Given the description of an element on the screen output the (x, y) to click on. 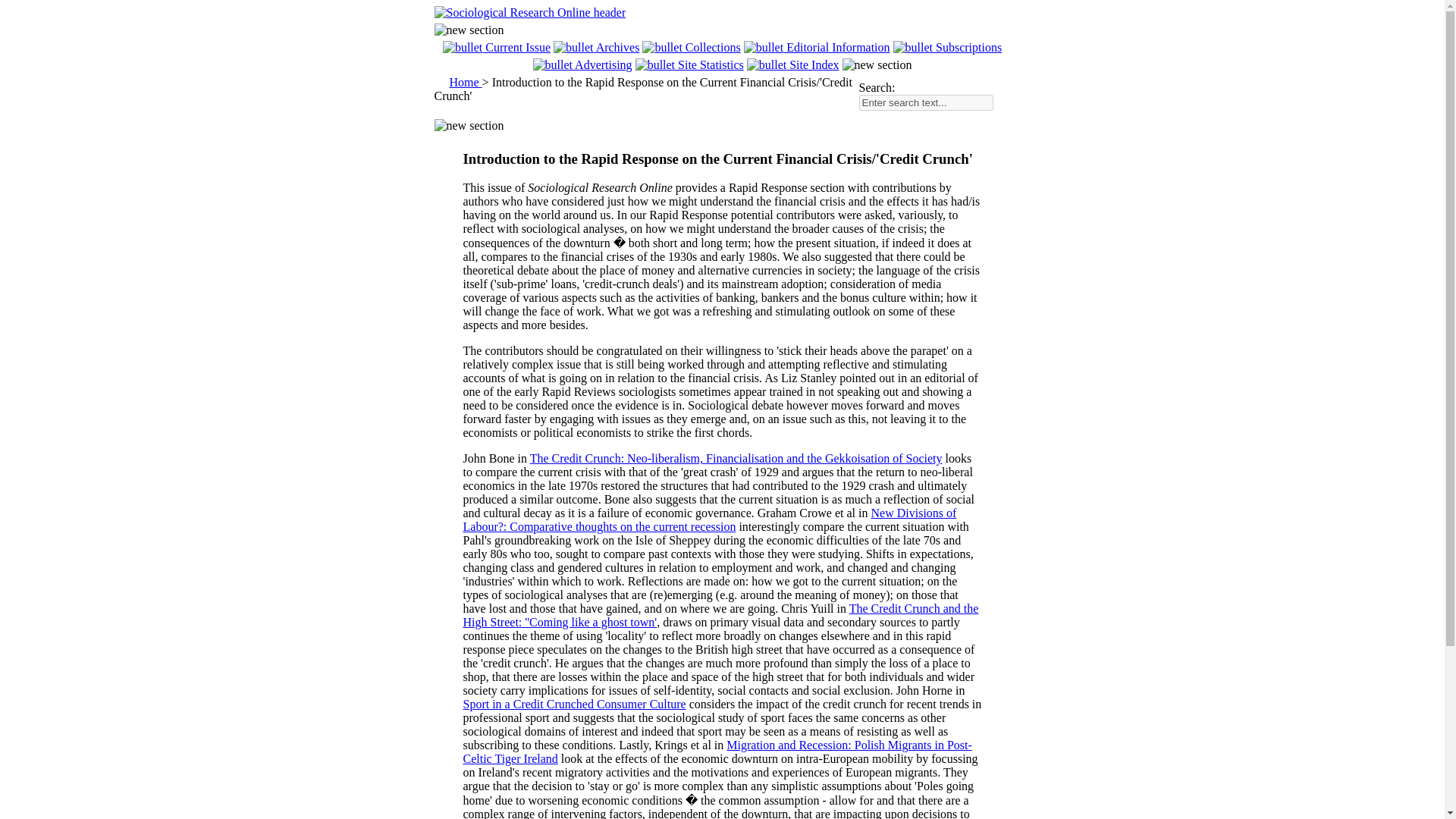
Advertising (581, 64)
Collections (690, 47)
Site Statistics (689, 64)
Enter search text... (925, 101)
Current Issue (496, 47)
Sport in a Credit Crunched Consumer Culture (574, 703)
